Given the description of an element on the screen output the (x, y) to click on. 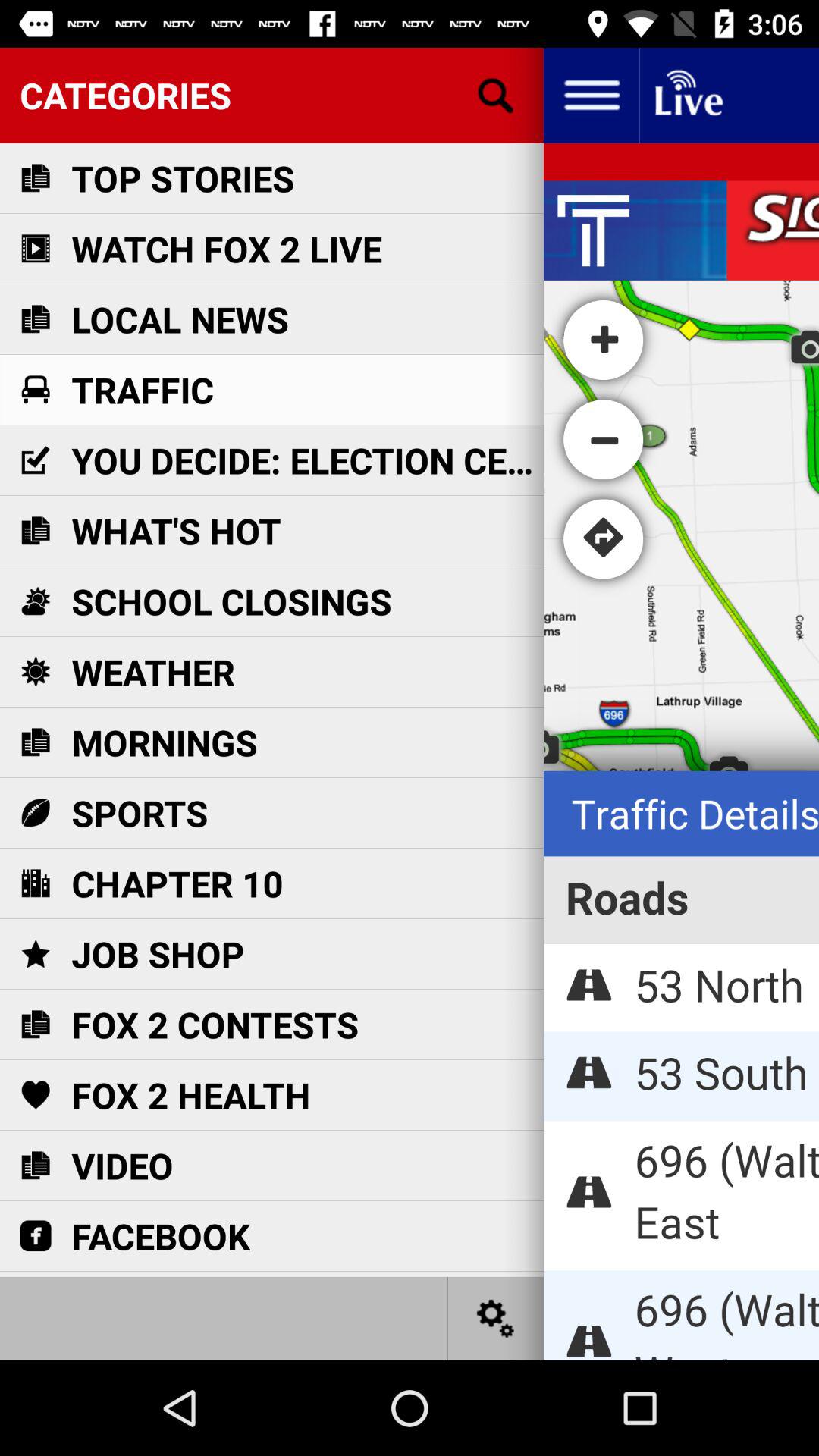
menu icon (591, 95)
